Given the description of an element on the screen output the (x, y) to click on. 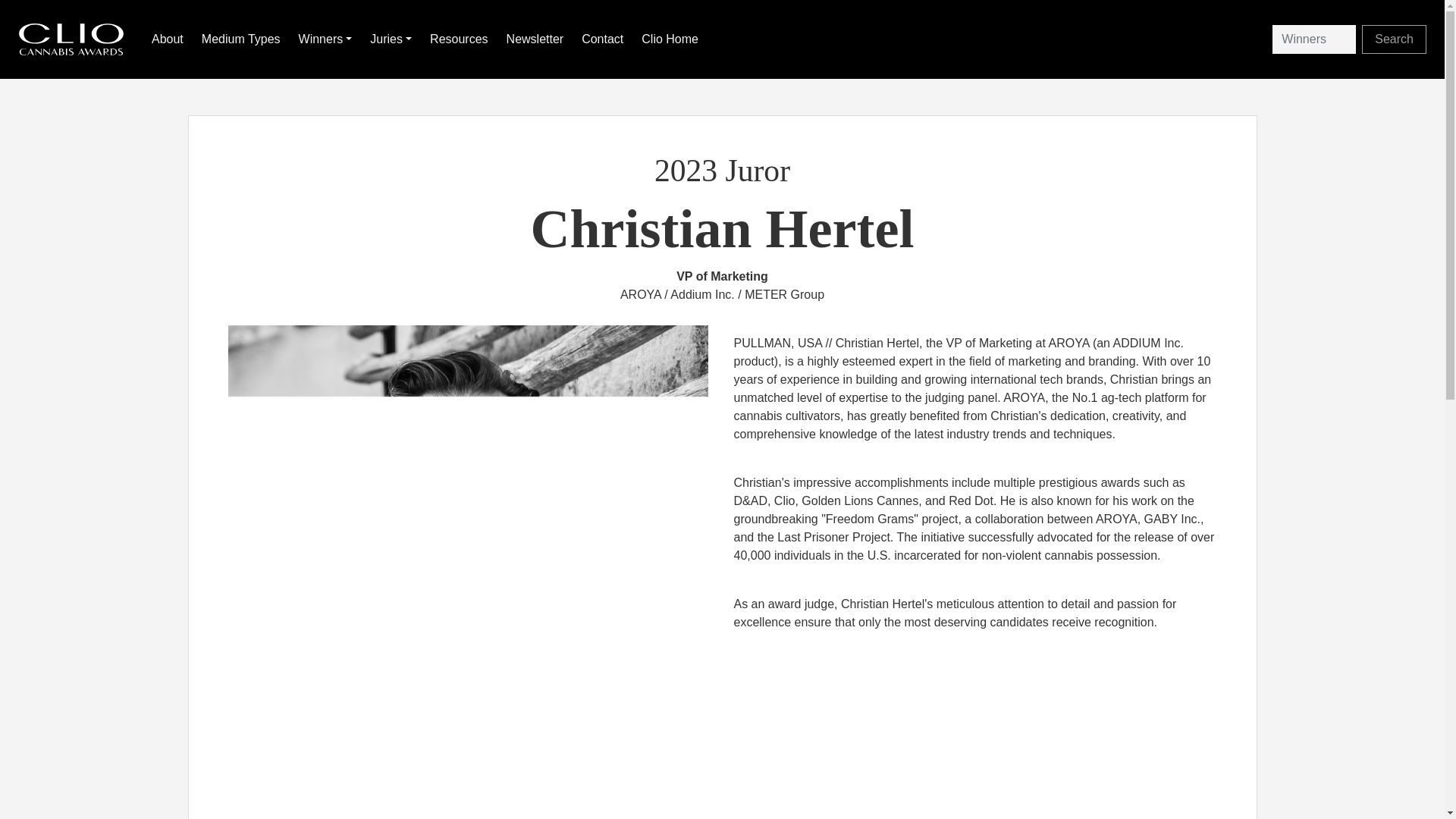
Search (1393, 39)
About (170, 39)
Search (1393, 39)
Juries (393, 39)
Contact (604, 39)
Clio Home (672, 39)
Resources (461, 39)
Medium Types (243, 39)
Winners (328, 39)
Newsletter (538, 39)
